Given the description of an element on the screen output the (x, y) to click on. 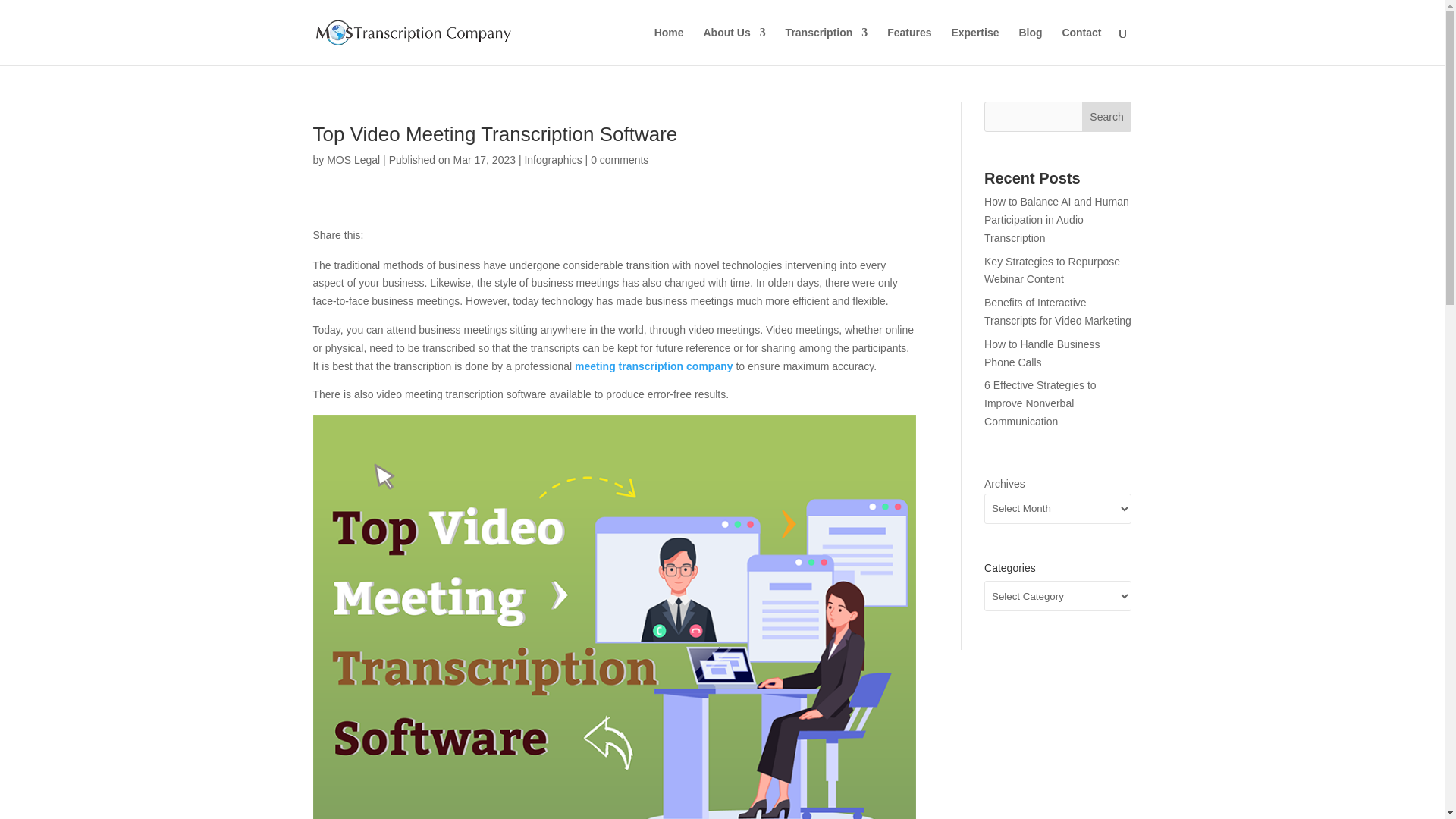
Meeting Transcription Company (653, 366)
About Us (734, 46)
Transcription (826, 46)
Posts by MOS Legal (353, 159)
